Given the description of an element on the screen output the (x, y) to click on. 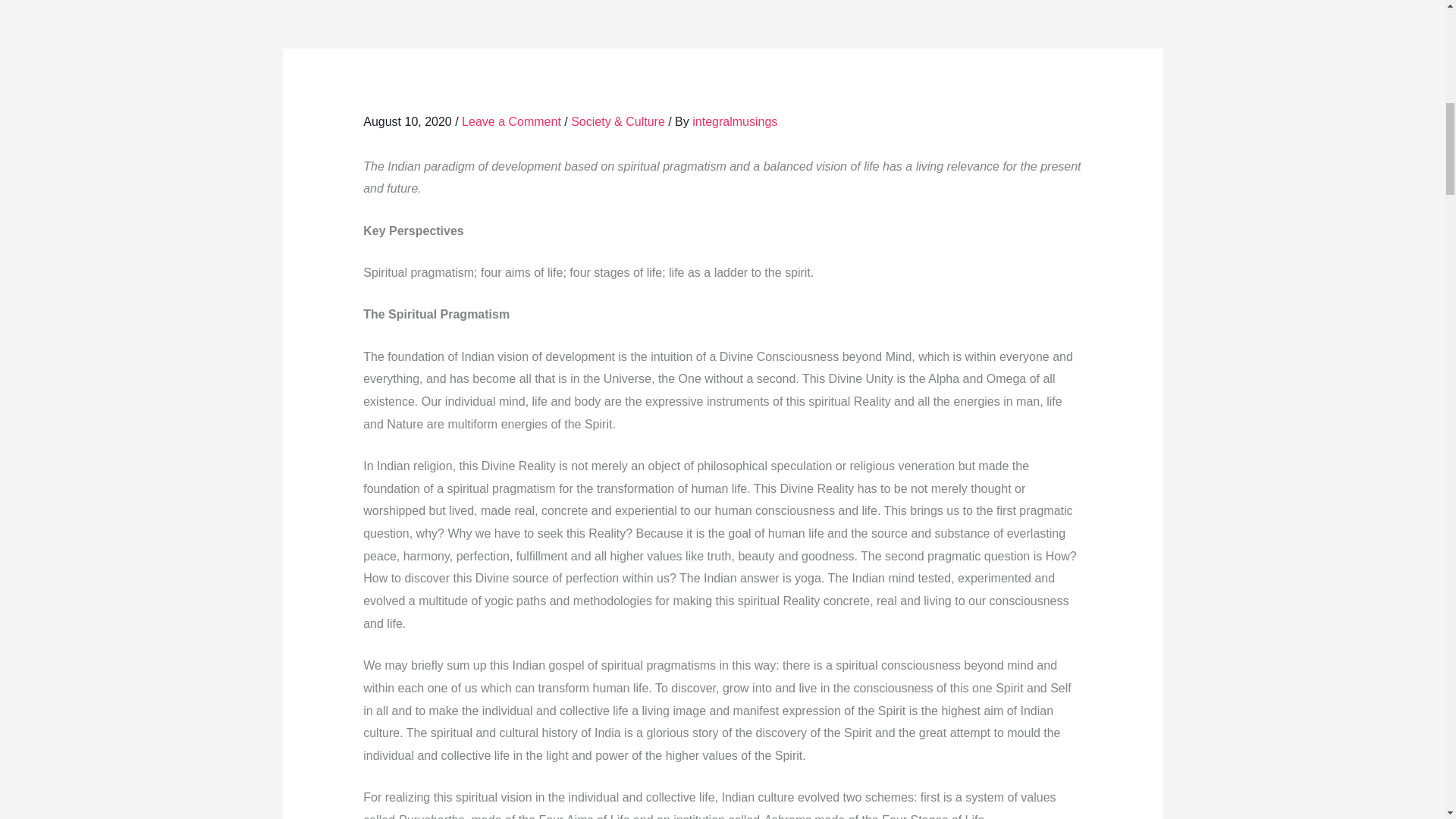
View all posts by integralmusings (735, 121)
Leave a Comment (510, 121)
integralmusings (735, 121)
